Given the description of an element on the screen output the (x, y) to click on. 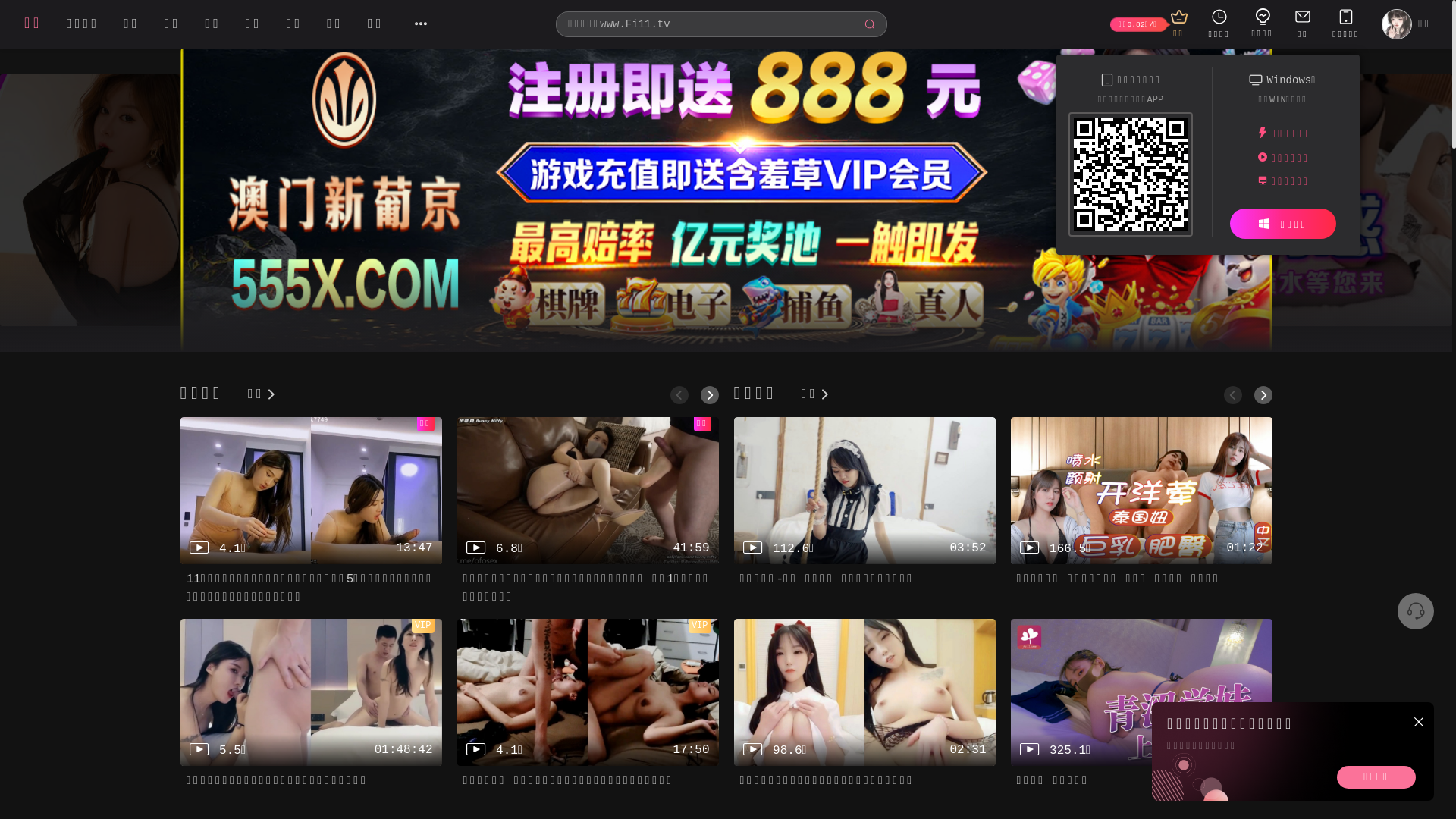
https://op.xinxi56.com?id=49847223 Element type: hover (1130, 177)
